Given the description of an element on the screen output the (x, y) to click on. 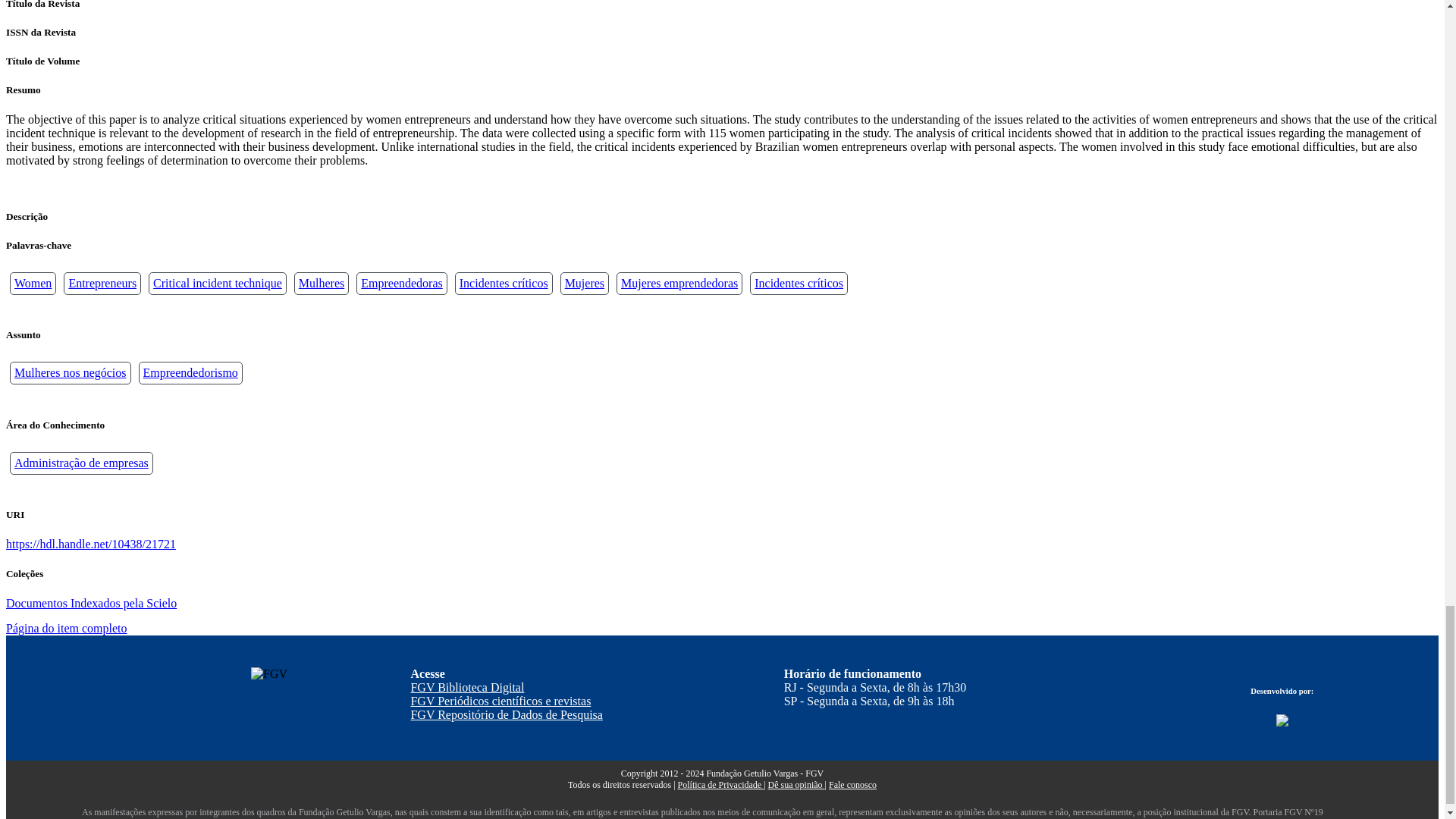
Mulheres (320, 282)
Women (32, 282)
Critical incident technique (217, 282)
Entrepreneurs (102, 282)
Empreendedoras (401, 282)
